Given the description of an element on the screen output the (x, y) to click on. 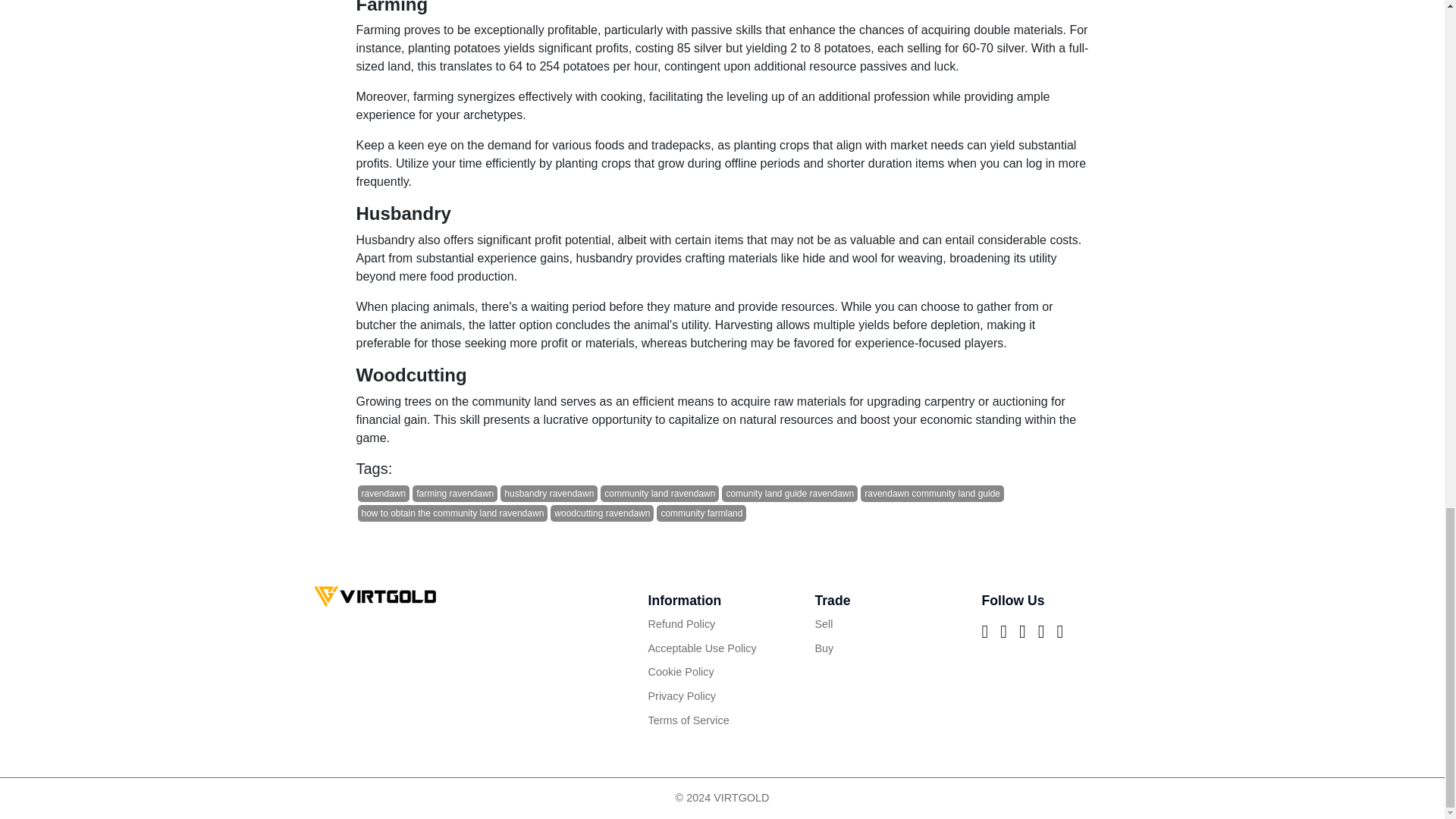
Refund Policy (721, 624)
how to obtain the community land ravendawn (453, 513)
community land ravendawn (659, 493)
ravendawn community land guide (932, 493)
Acceptable Use Policy (721, 648)
Customer reviews powered by Trustpilot (721, 743)
community farmland (700, 513)
Privacy Policy (721, 696)
husbandry ravendawn (548, 493)
farming ravendawn (454, 493)
